Given the description of an element on the screen output the (x, y) to click on. 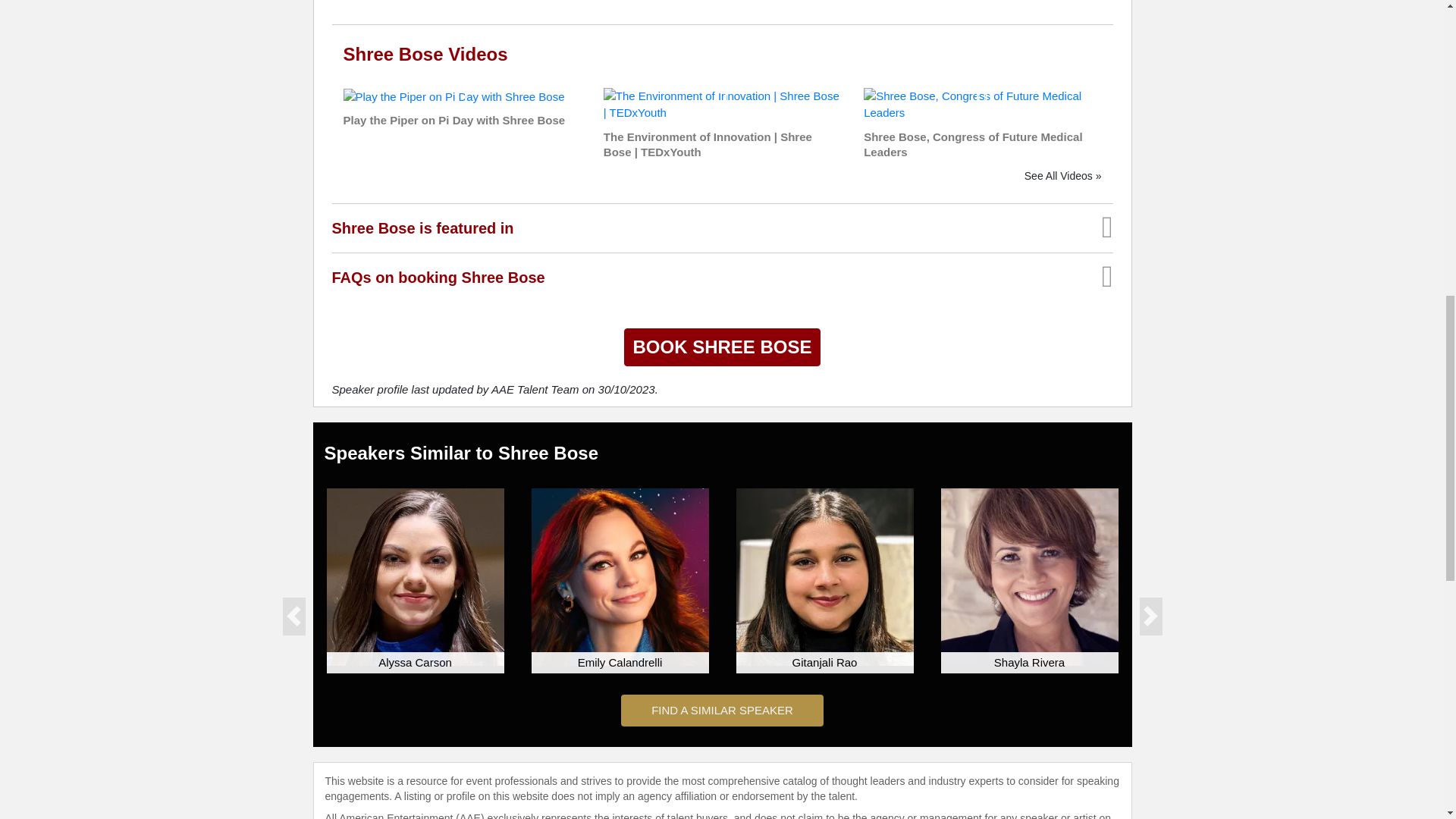
Shree Bose, Congress of Future Medical Leaders  (981, 103)
Gitanjali Rao (823, 576)
Emily Calandrelli (619, 576)
Alyssa Carson (414, 576)
Shayla Rivera (1029, 576)
Play the Piper on Pi Day with Shree Bose (453, 95)
